Given the description of an element on the screen output the (x, y) to click on. 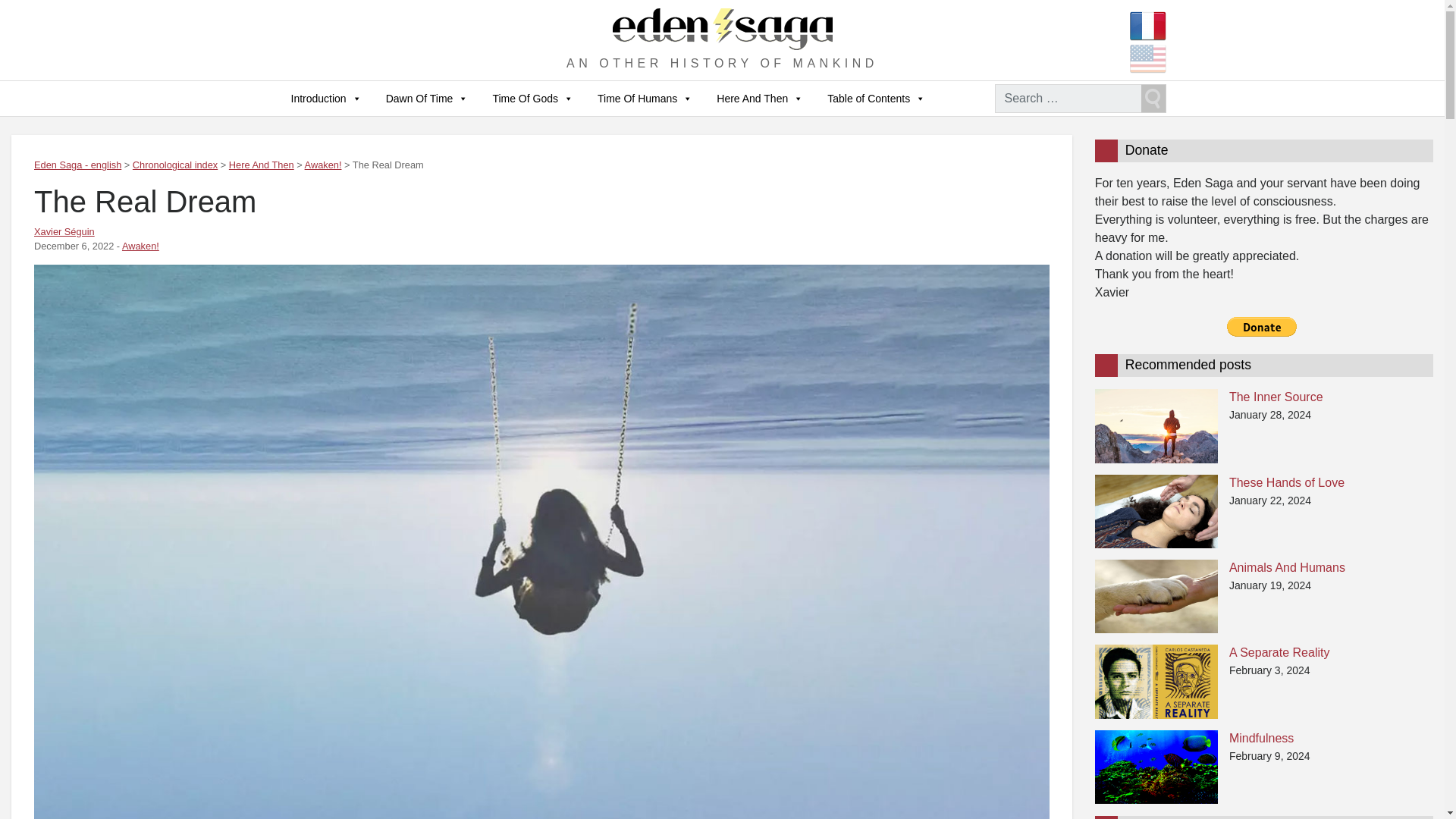
A Separate Reality (1155, 680)
Introduction (326, 98)
Go to Chronological index. (174, 164)
These Hands of Love (1155, 510)
Time Of Gods (532, 98)
Mindfulness (1155, 766)
Animals And Humans (1155, 594)
Dawn Of Time (427, 98)
The Inner Source (1155, 424)
Go to the Awaken! Category archives. (323, 164)
